Given the description of an element on the screen output the (x, y) to click on. 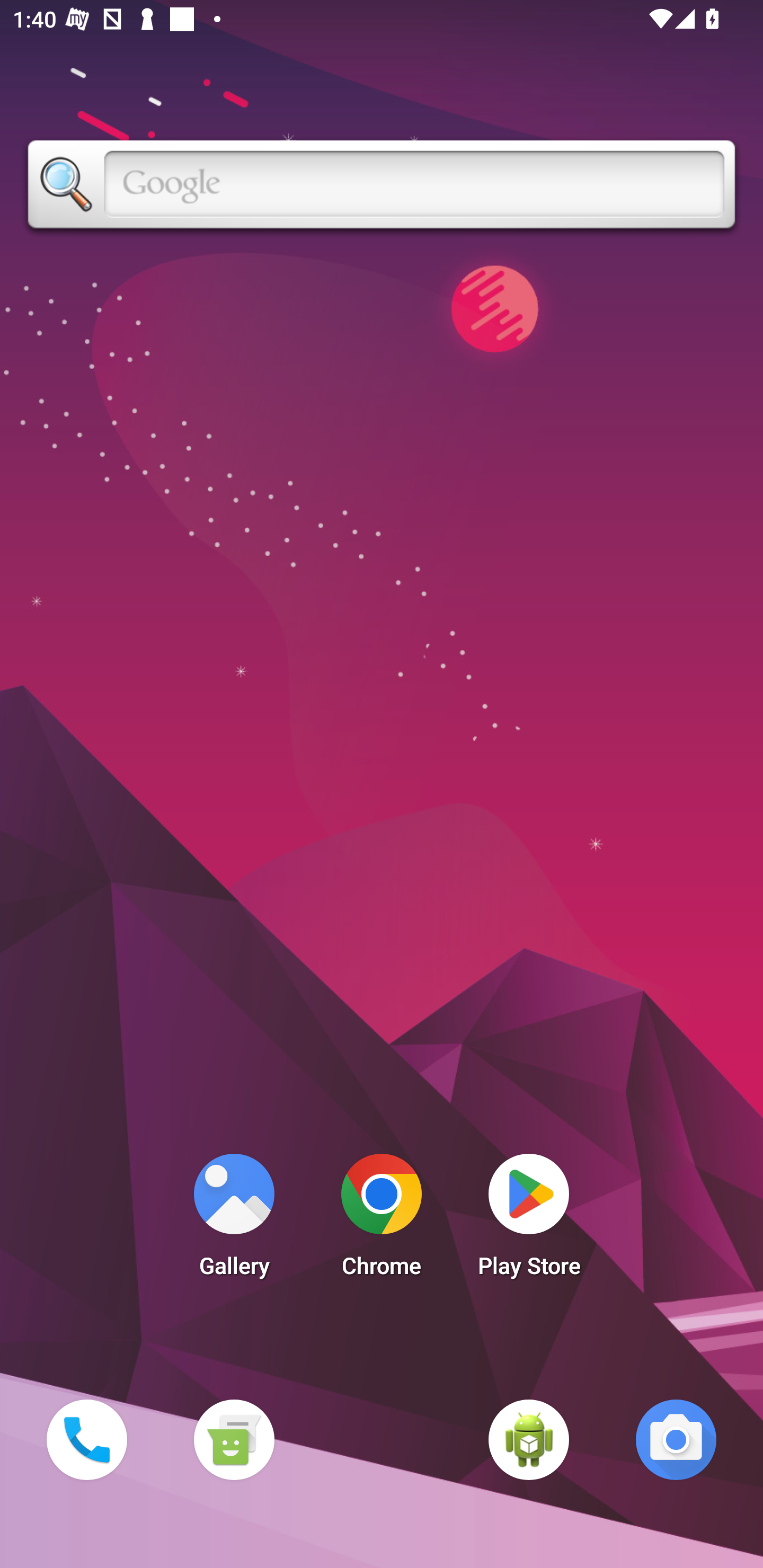
Gallery (233, 1220)
Chrome (381, 1220)
Play Store (528, 1220)
Phone (86, 1439)
Messaging (233, 1439)
WebView Browser Tester (528, 1439)
Camera (676, 1439)
